Given the description of an element on the screen output the (x, y) to click on. 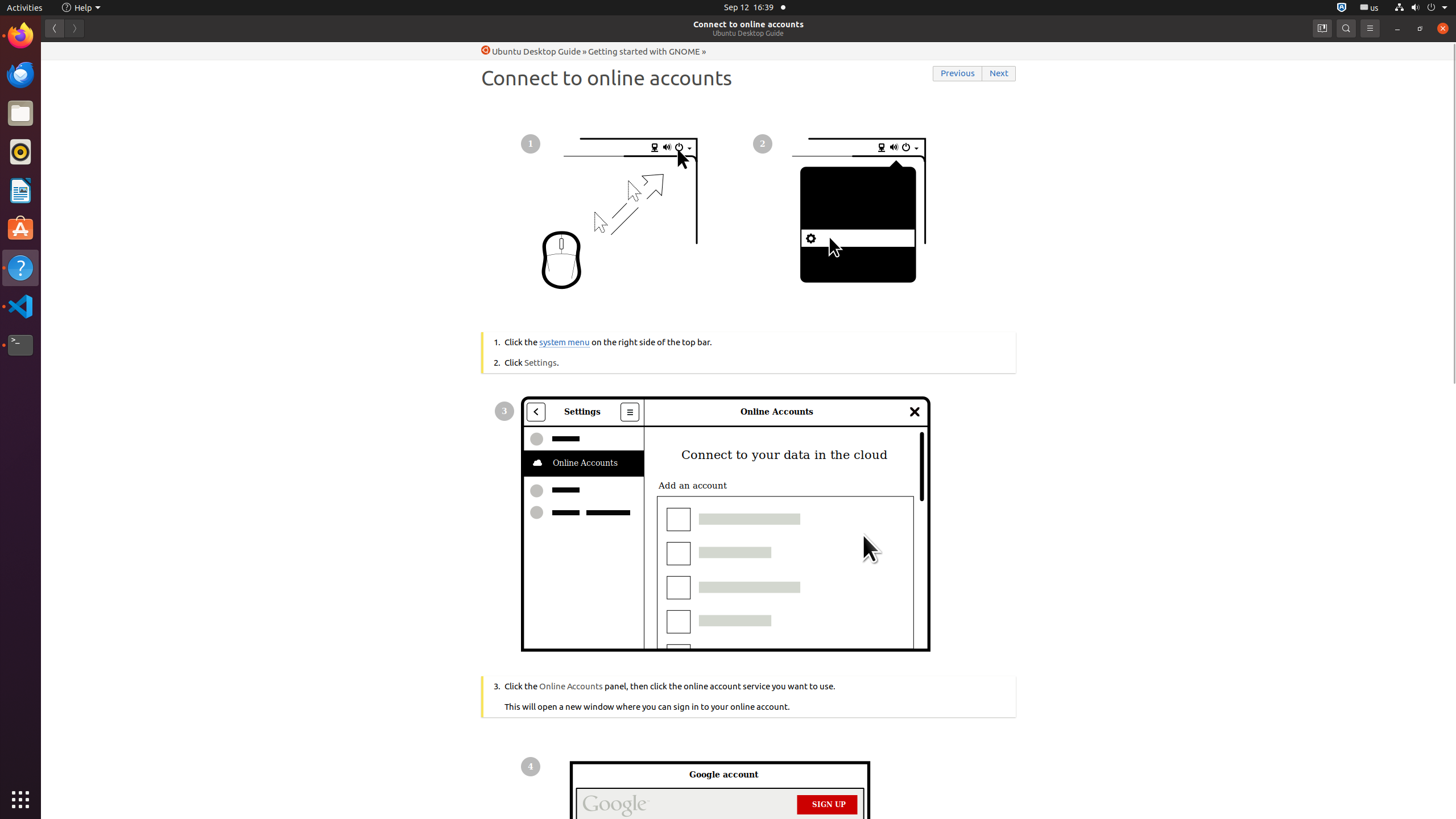
Getting started with GNOME Element type: link (644, 51)
luyi1 Element type: label (75, 50)
